Given the description of an element on the screen output the (x, y) to click on. 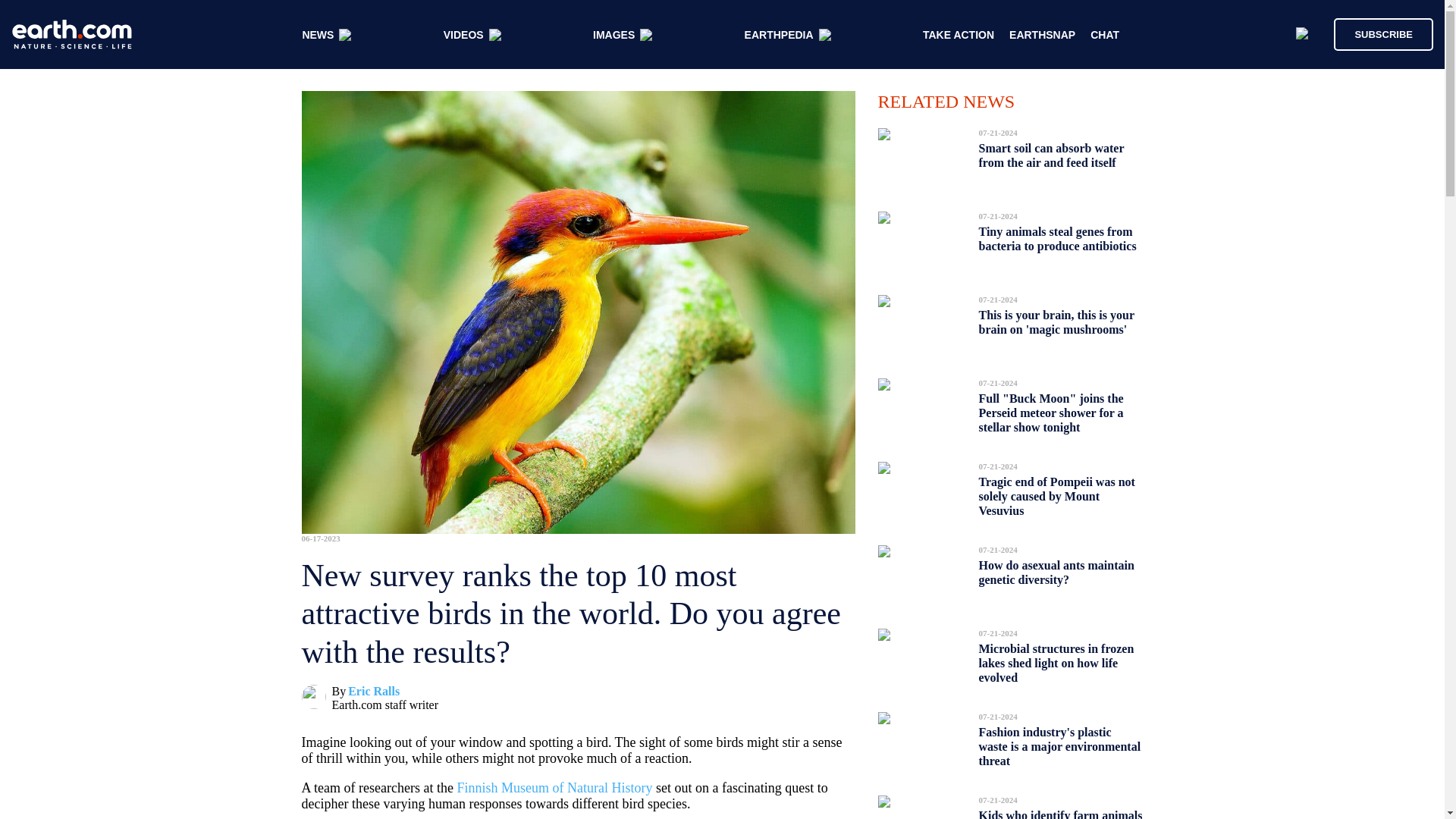
CHAT (1104, 34)
Smart soil can absorb water from the air and feed itself (1051, 155)
SUBSCRIBE (1375, 33)
SUBSCRIBE (1382, 34)
TAKE ACTION (958, 34)
How do asexual ants maintain genetic diversity? (1056, 572)
This is your brain, this is your brain on 'magic mushrooms' (1056, 322)
Eric Ralls (372, 690)
EARTHSNAP (1042, 34)
